Given the description of an element on the screen output the (x, y) to click on. 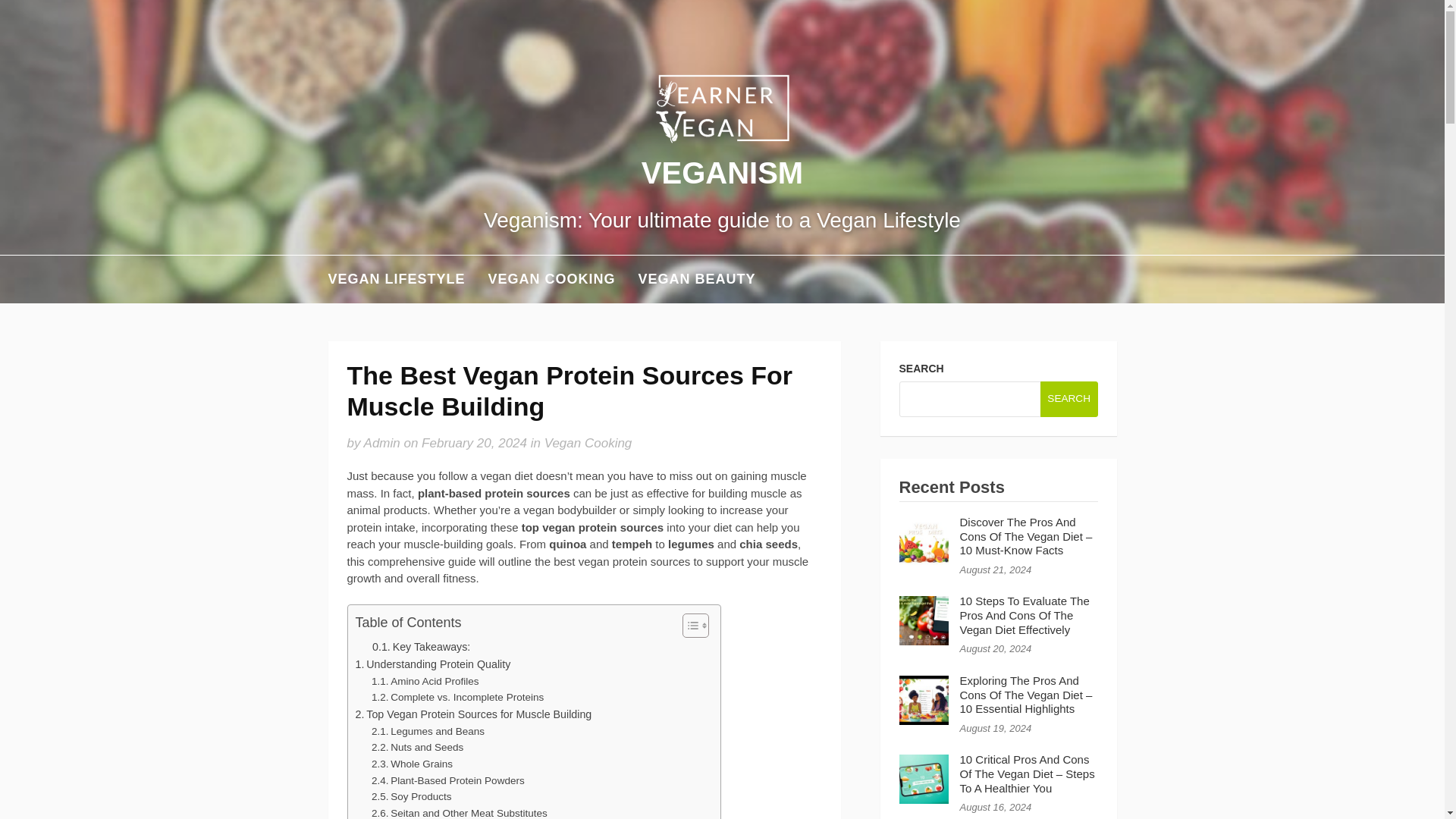
Vegan Cooking (587, 442)
Whole Grains (411, 764)
Legumes and Beans (427, 731)
VEGAN BEAUTY (697, 279)
VEGANISM (722, 172)
Nuts and Seeds (417, 747)
VEGAN COOKING (551, 279)
Understanding Protein Quality (433, 664)
Seitan and Other Meat Substitutes (459, 812)
VEGAN LIFESTYLE (395, 279)
